Given the description of an element on the screen output the (x, y) to click on. 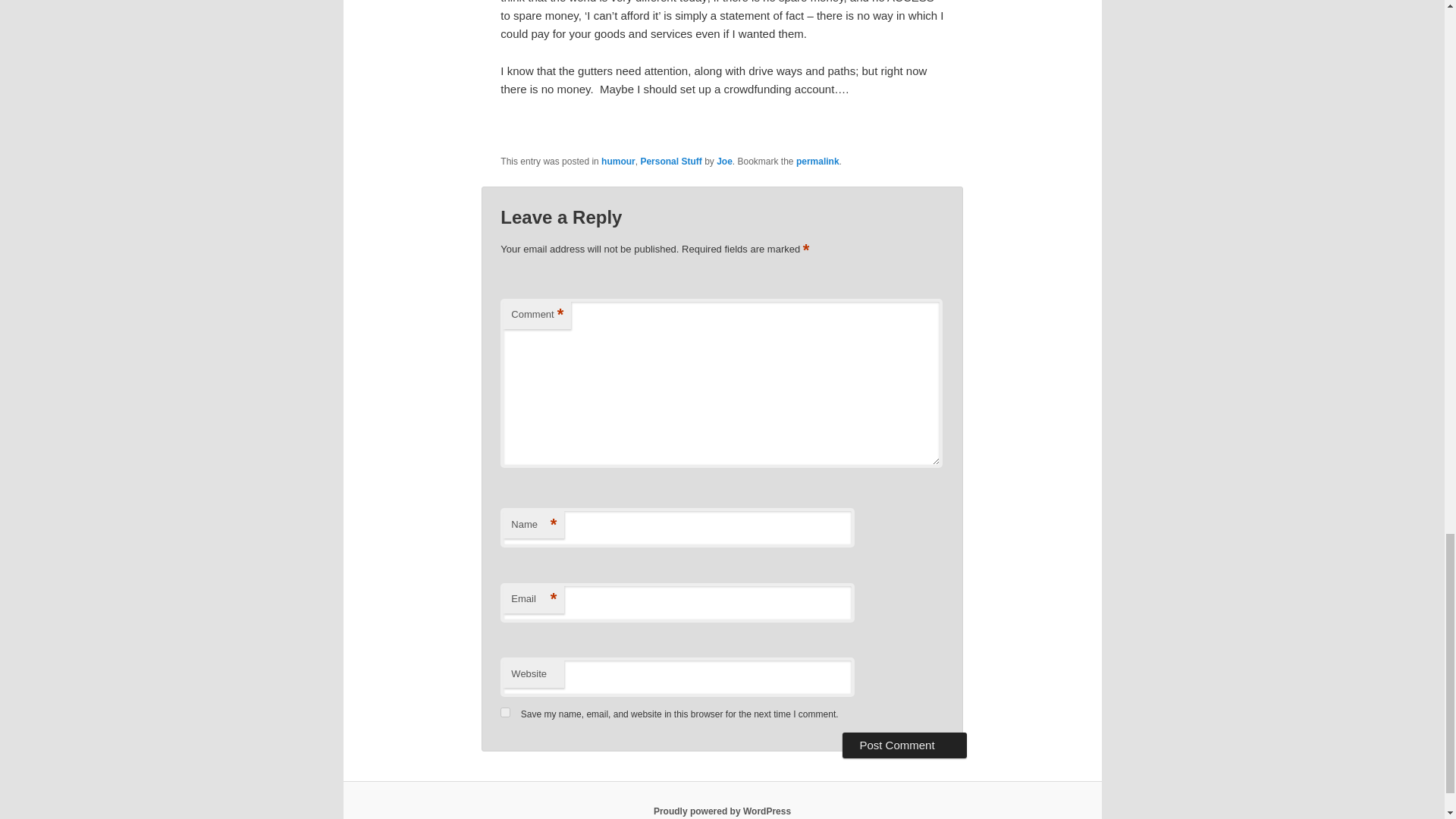
humour (617, 161)
yes (505, 712)
Semantic Personal Publishing Platform (721, 810)
permalink (818, 161)
Proudly powered by WordPress (721, 810)
Post Comment (904, 745)
Joe (724, 161)
Personal Stuff (670, 161)
Post Comment (904, 745)
